Given the description of an element on the screen output the (x, y) to click on. 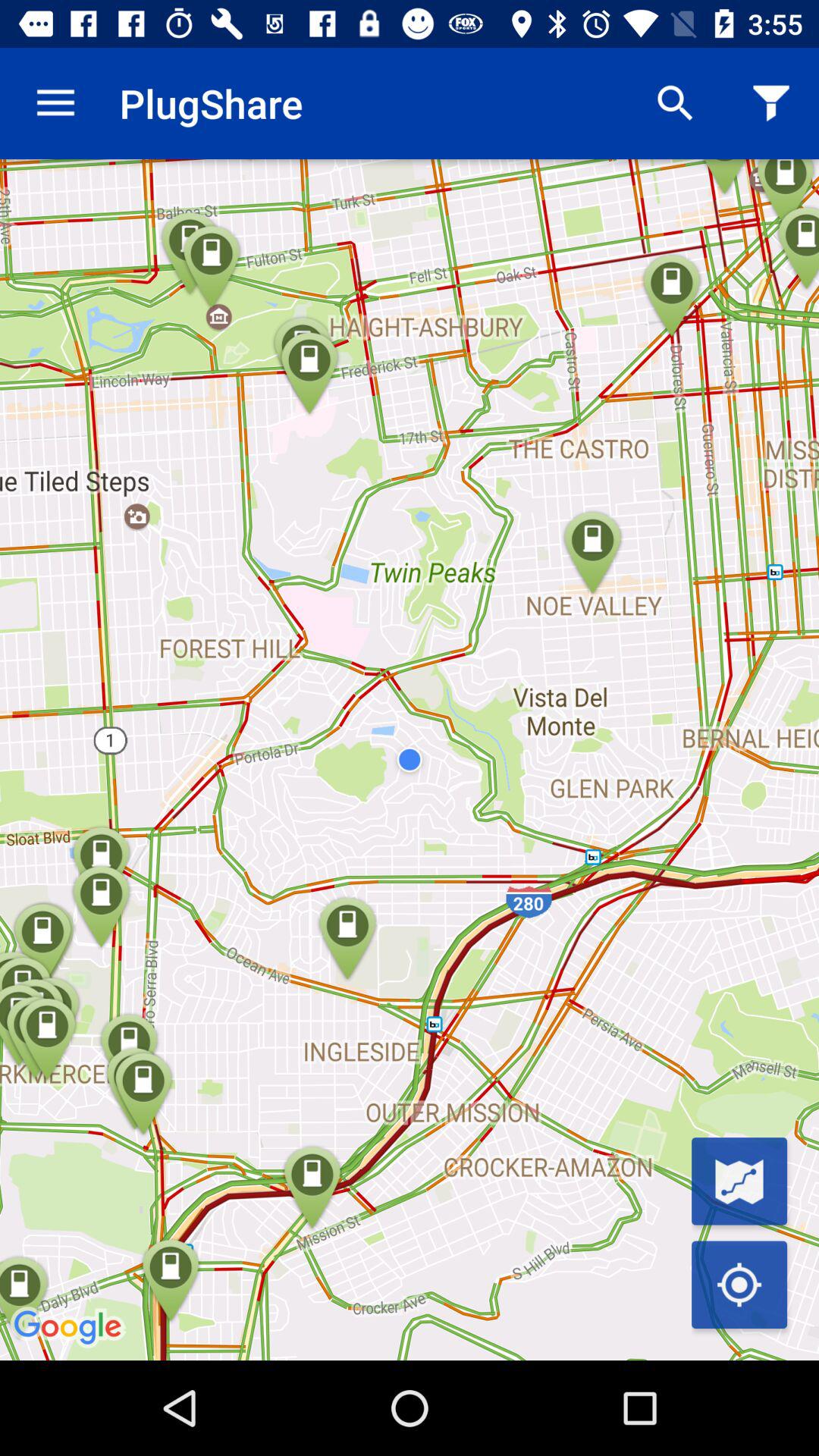
view current location (739, 1284)
